Given the description of an element on the screen output the (x, y) to click on. 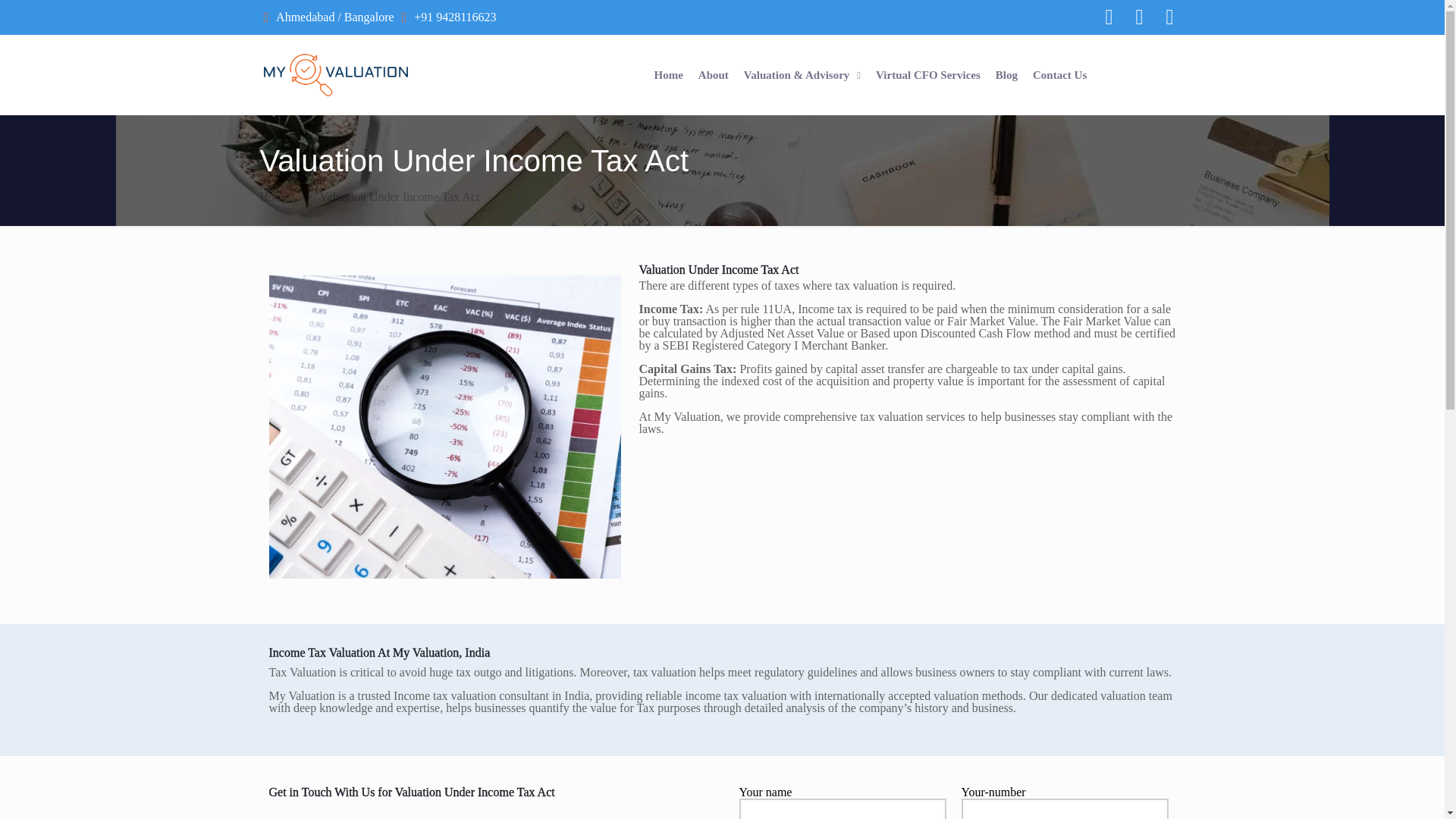
About (713, 75)
Blog (1005, 75)
Contact Us (1059, 75)
Virtual CFO Services (927, 75)
Home (668, 75)
